Given the description of an element on the screen output the (x, y) to click on. 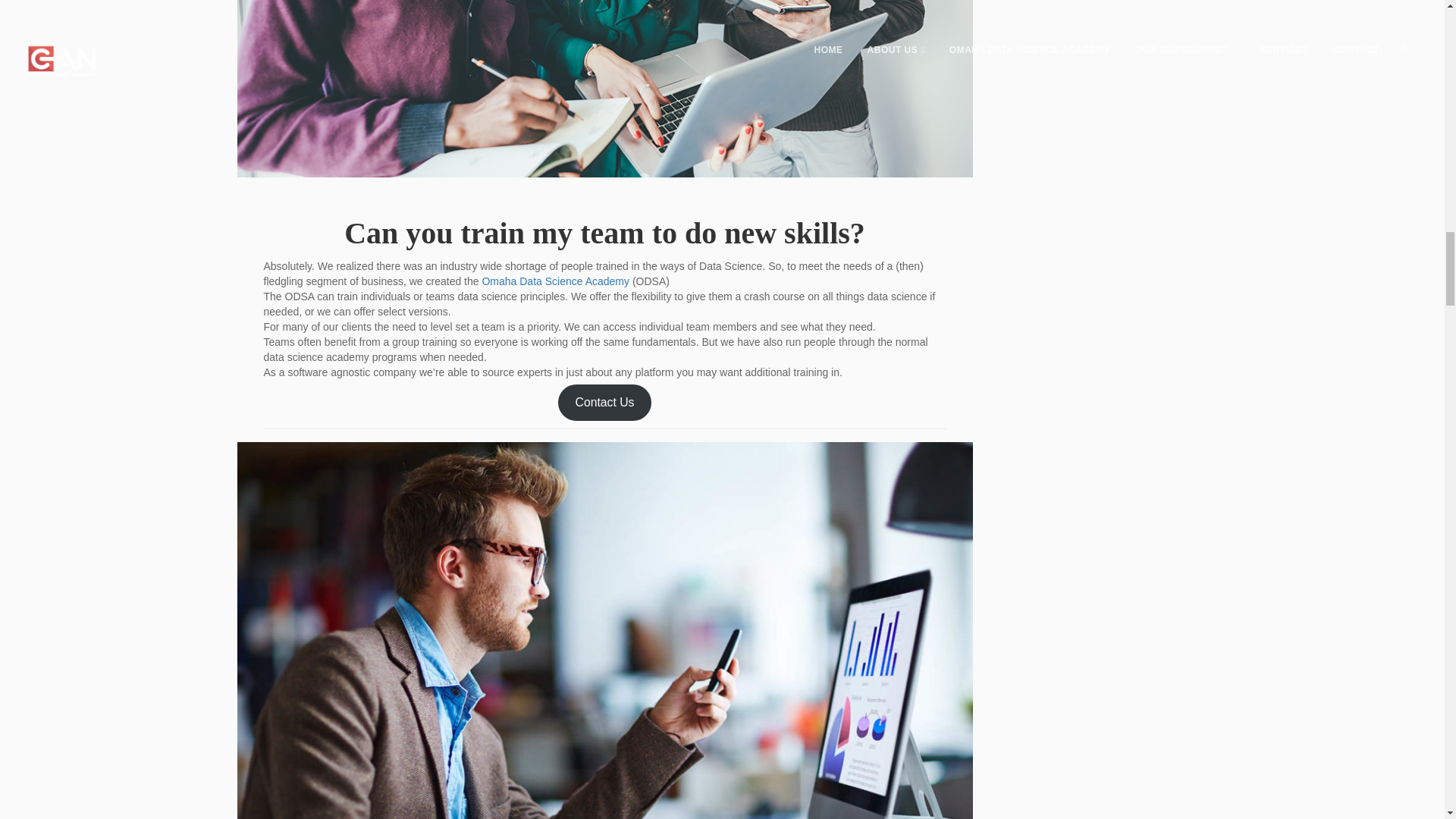
Nate Watson (384, 460)
Omaha Data Science Academy (554, 281)
Can you train my team to do new skills? (604, 233)
May 27, 2020 (302, 460)
Contact Us (604, 402)
